Given the description of an element on the screen output the (x, y) to click on. 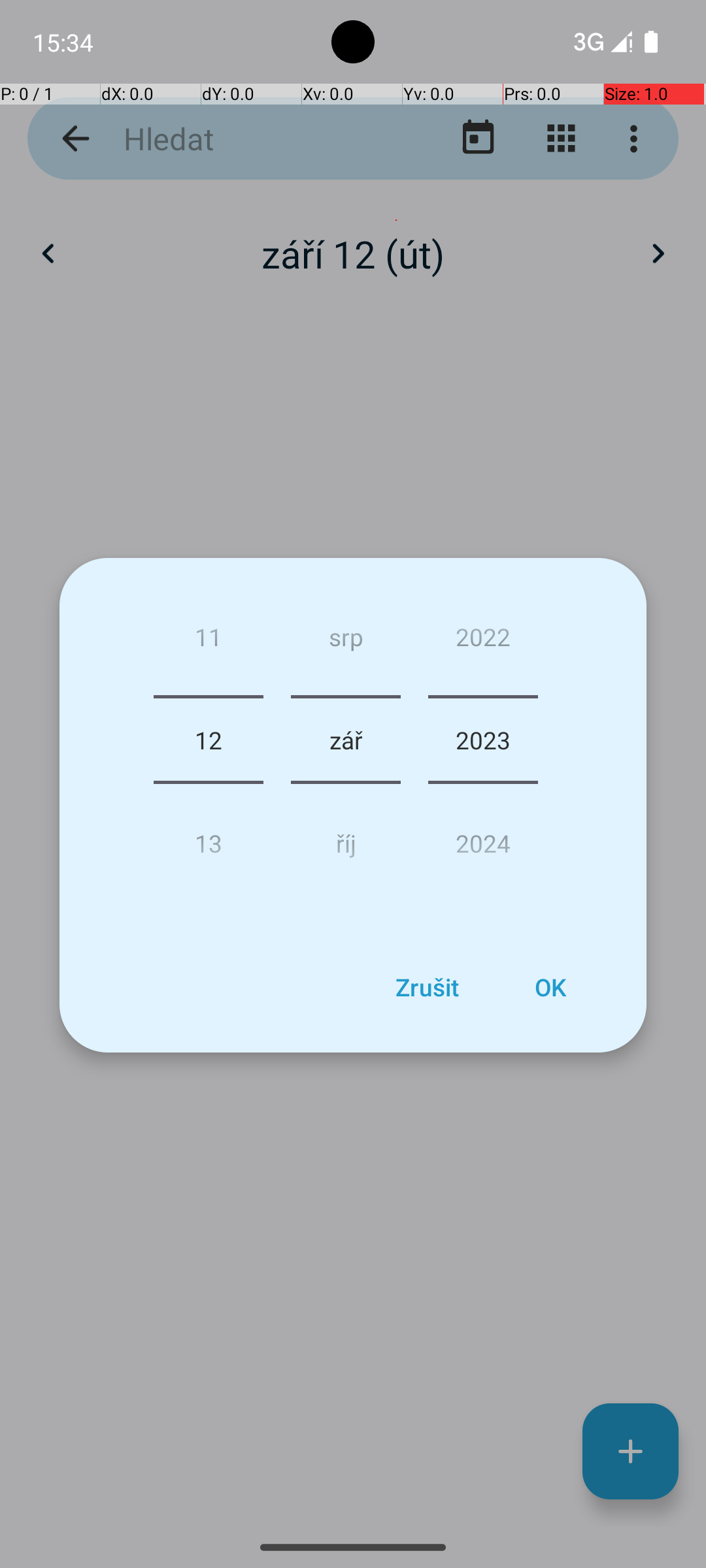
Zrušit Element type: android.widget.Button (426, 987)
srp Element type: android.widget.Button (345, 641)
zář Element type: android.widget.EditText (345, 739)
říj Element type: android.widget.Button (345, 837)
